Given the description of an element on the screen output the (x, y) to click on. 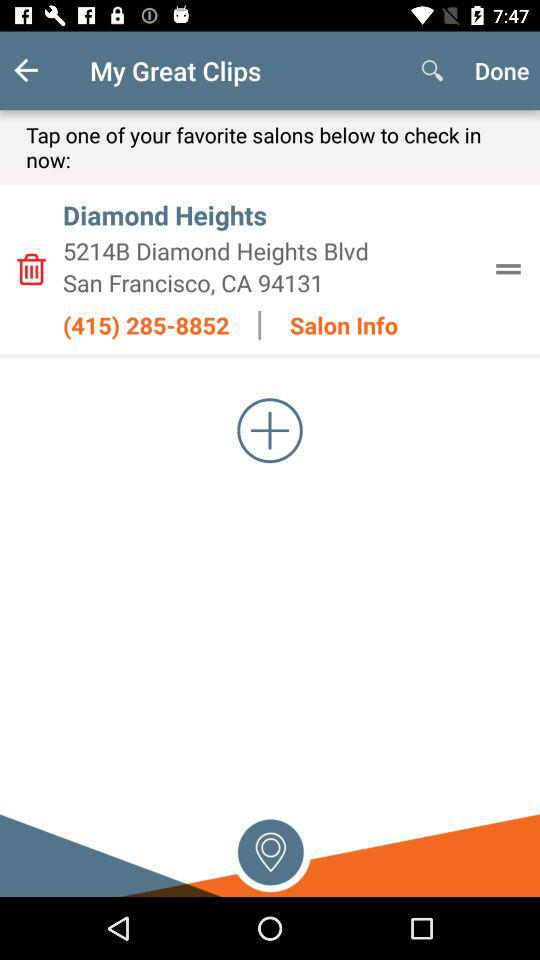
launch the item below the 5214b diamond heights icon (269, 282)
